Given the description of an element on the screen output the (x, y) to click on. 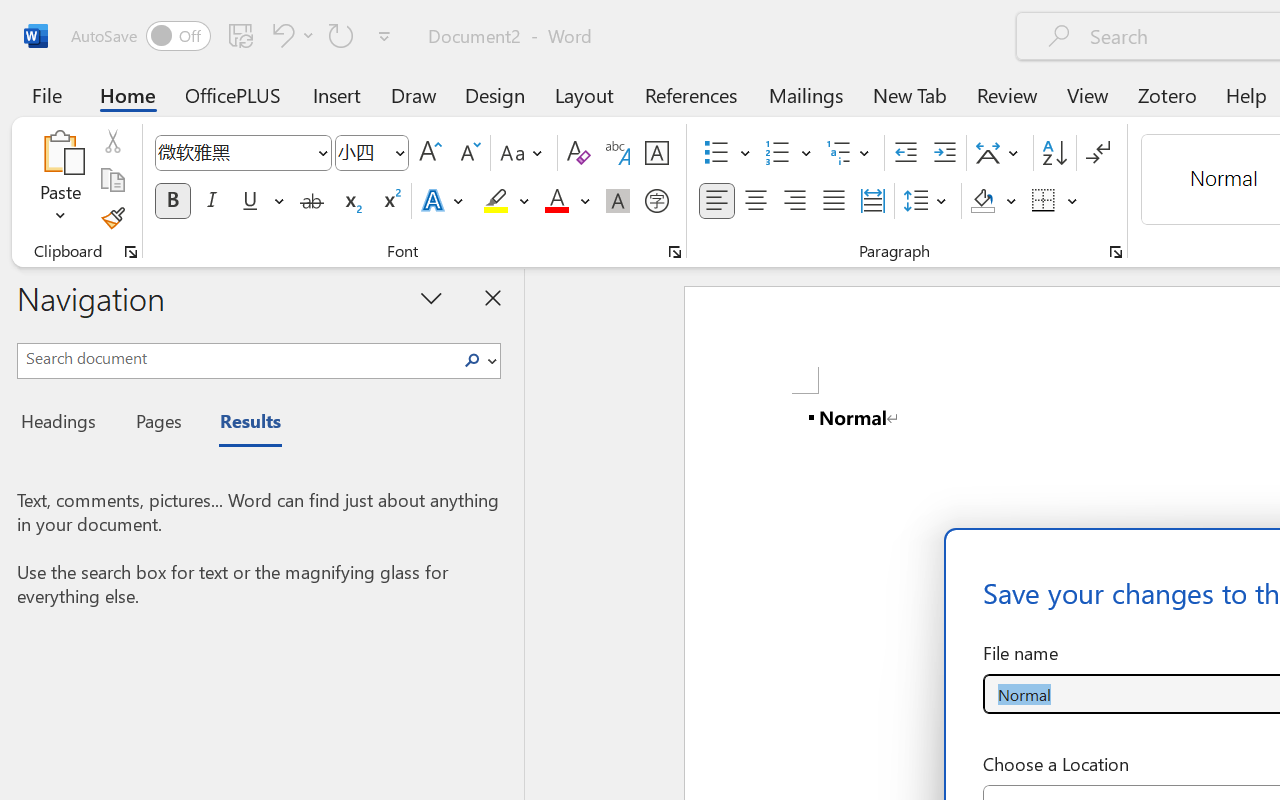
Design (495, 94)
AutoSave (140, 35)
Strikethrough (312, 201)
Shading RGB(0, 0, 0) (982, 201)
Justify (834, 201)
Draw (413, 94)
Change Case (524, 153)
Clear Formatting (578, 153)
Multilevel List (850, 153)
Format Painter (112, 218)
Line and Paragraph Spacing (927, 201)
Open (399, 152)
Insert (337, 94)
Undo Text Fill Effect (290, 35)
Pages (156, 424)
